Given the description of an element on the screen output the (x, y) to click on. 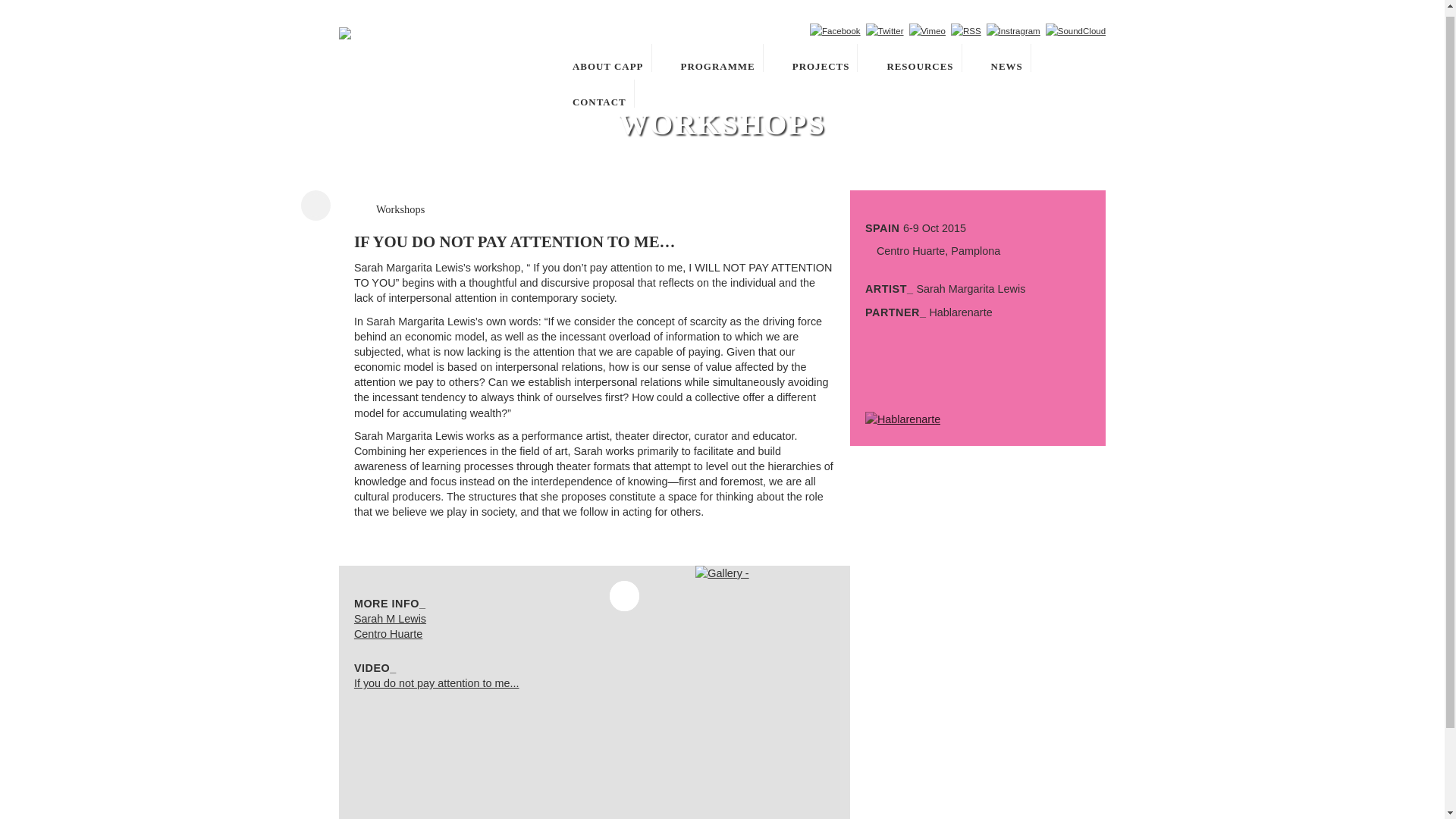
RESOURCES (915, 58)
Facebook CAPP (834, 31)
Vimeo CAPP (926, 31)
PROGRAMME (713, 58)
Instagram CAPP (1014, 31)
Search (793, 30)
RSS CAPP (965, 31)
Twitter CAPP (885, 31)
Centro Huarte (387, 633)
Go Back (315, 205)
